Given the description of an element on the screen output the (x, y) to click on. 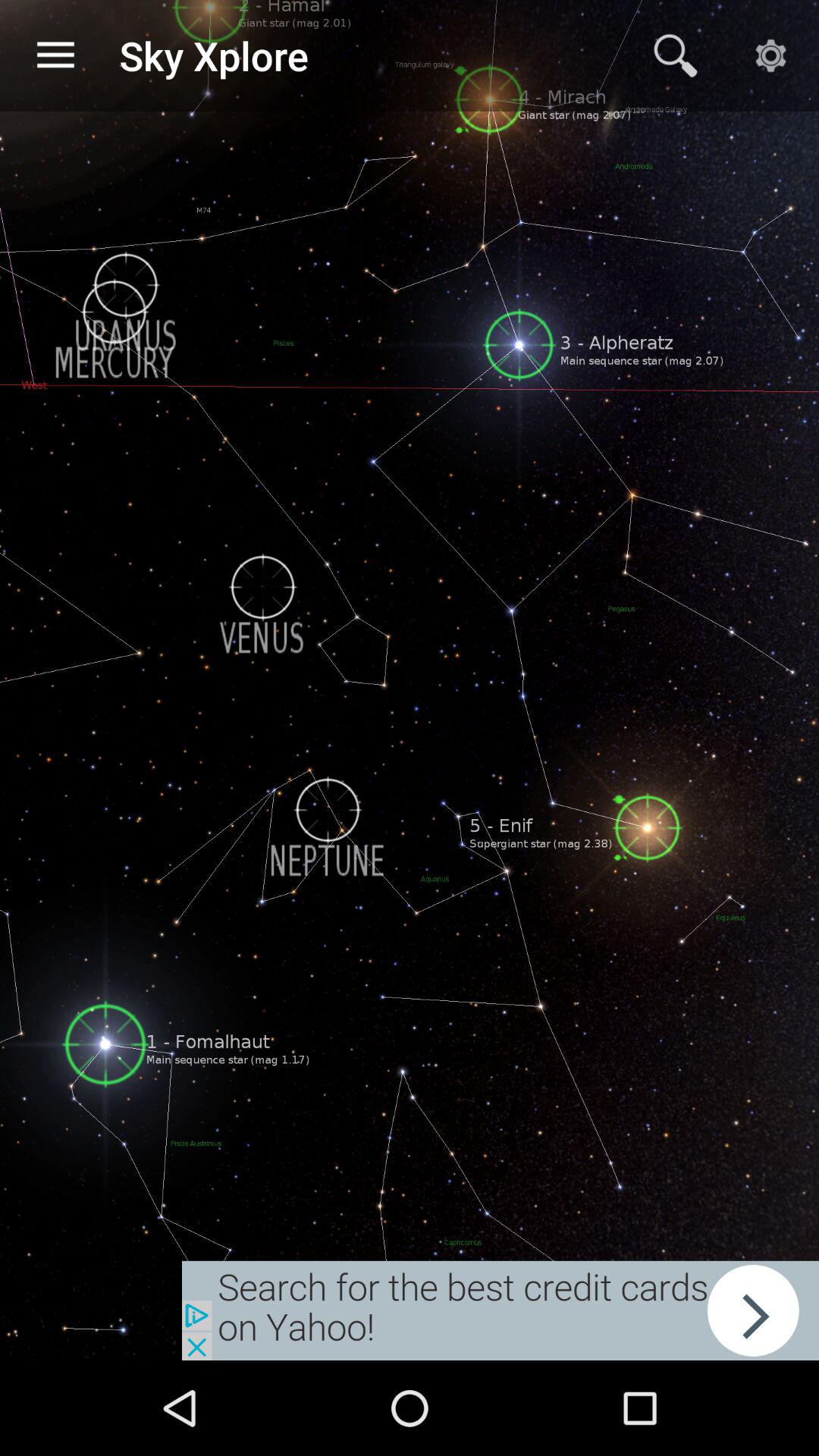
see advertisement (500, 1310)
